Given the description of an element on the screen output the (x, y) to click on. 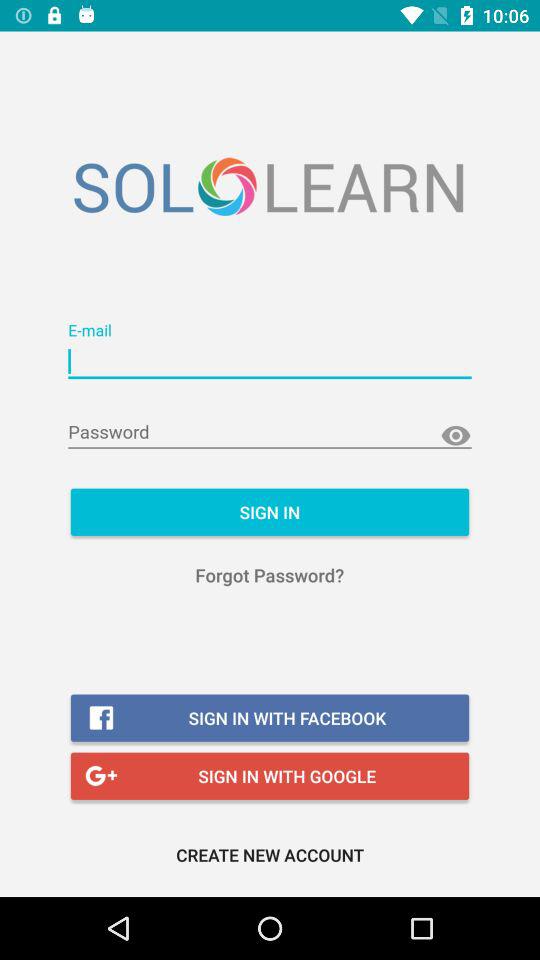
press item below the sign in icon (269, 574)
